Given the description of an element on the screen output the (x, y) to click on. 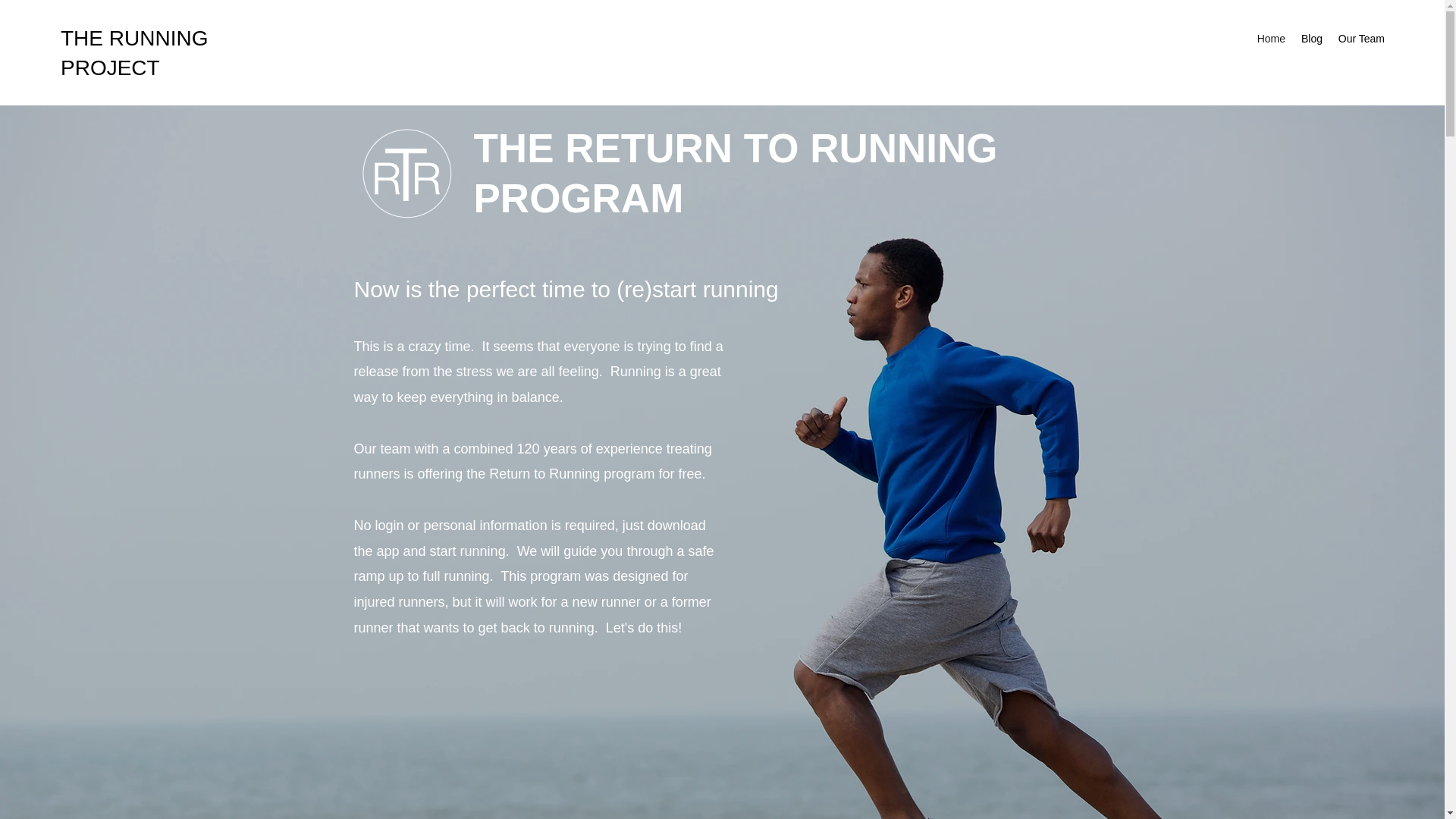
Home (1270, 38)
Blog (1311, 38)
Our Team (1360, 38)
THE RUNNING PROJECT (134, 52)
